Given the description of an element on the screen output the (x, y) to click on. 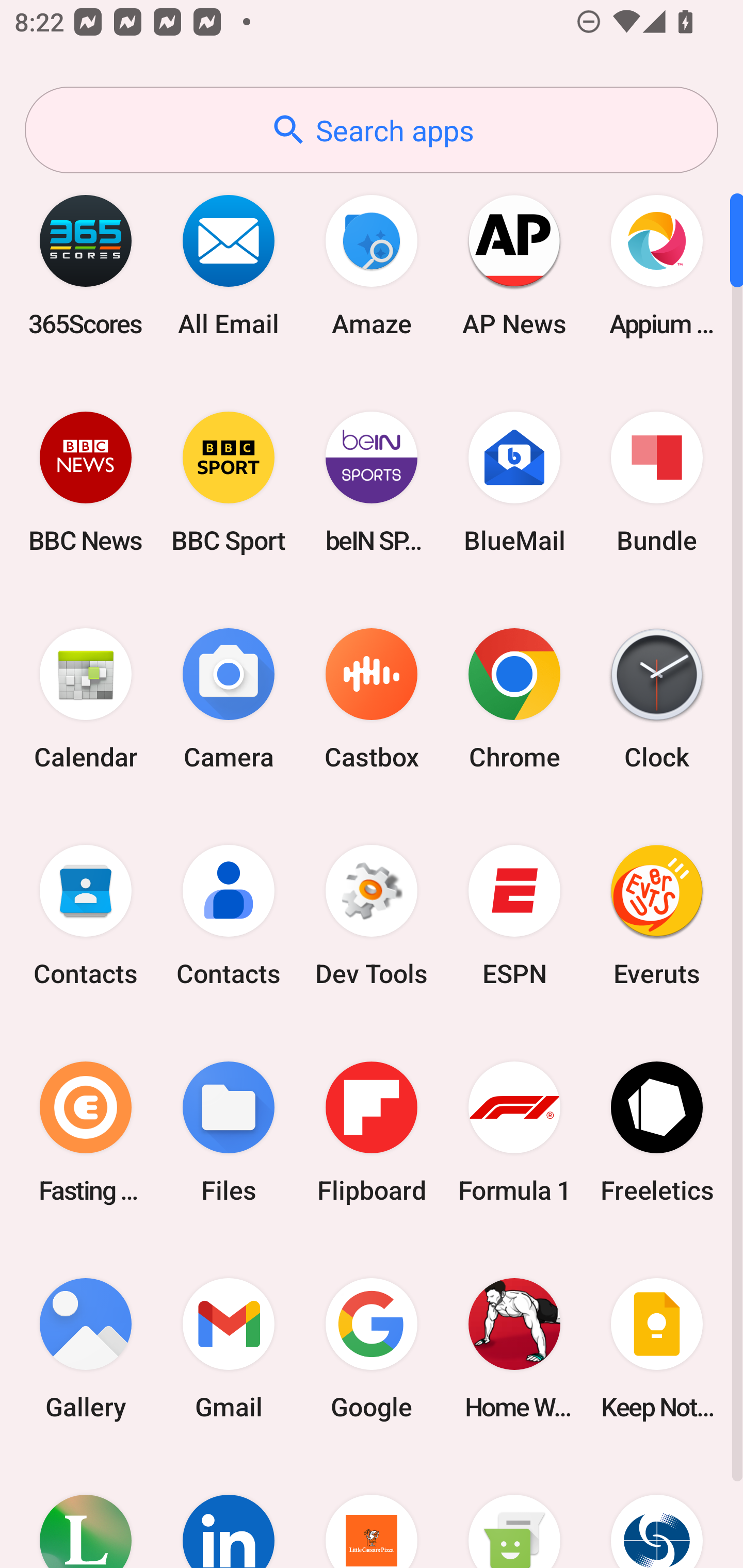
  Search apps (371, 130)
365Scores (85, 264)
All Email (228, 264)
Amaze (371, 264)
AP News (514, 264)
Appium Settings (656, 264)
BBC News (85, 482)
BBC Sport (228, 482)
beIN SPORTS (371, 482)
BlueMail (514, 482)
Bundle (656, 482)
Calendar (85, 699)
Camera (228, 699)
Castbox (371, 699)
Chrome (514, 699)
Clock (656, 699)
Contacts (85, 915)
Contacts (228, 915)
Dev Tools (371, 915)
ESPN (514, 915)
Everuts (656, 915)
Fasting Coach (85, 1131)
Files (228, 1131)
Flipboard (371, 1131)
Formula 1 (514, 1131)
Freeletics (656, 1131)
Gallery (85, 1348)
Gmail (228, 1348)
Google (371, 1348)
Home Workout (514, 1348)
Keep Notes (656, 1348)
